Given the description of an element on the screen output the (x, y) to click on. 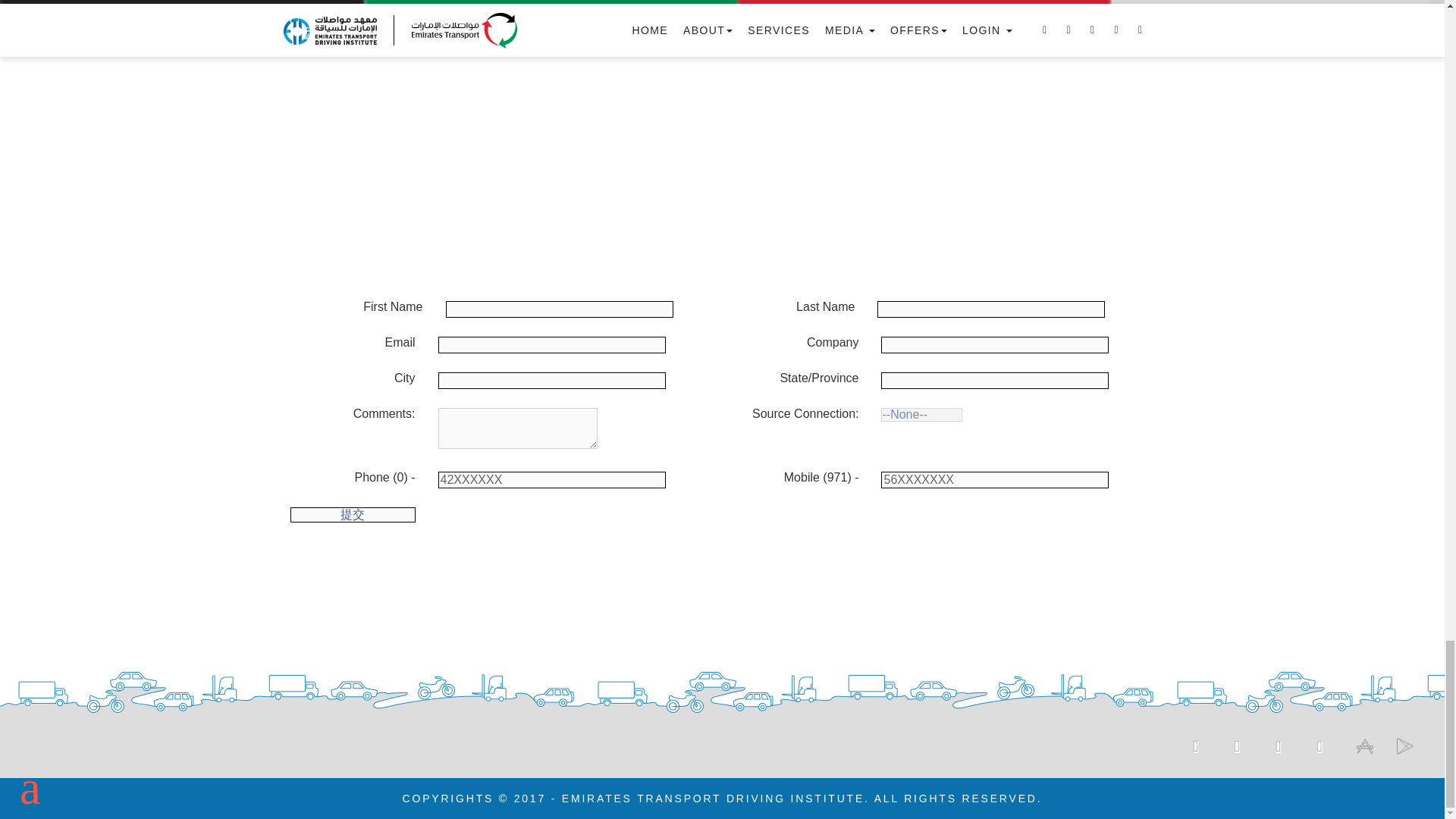
Source Connection (921, 414)
